Given the description of an element on the screen output the (x, y) to click on. 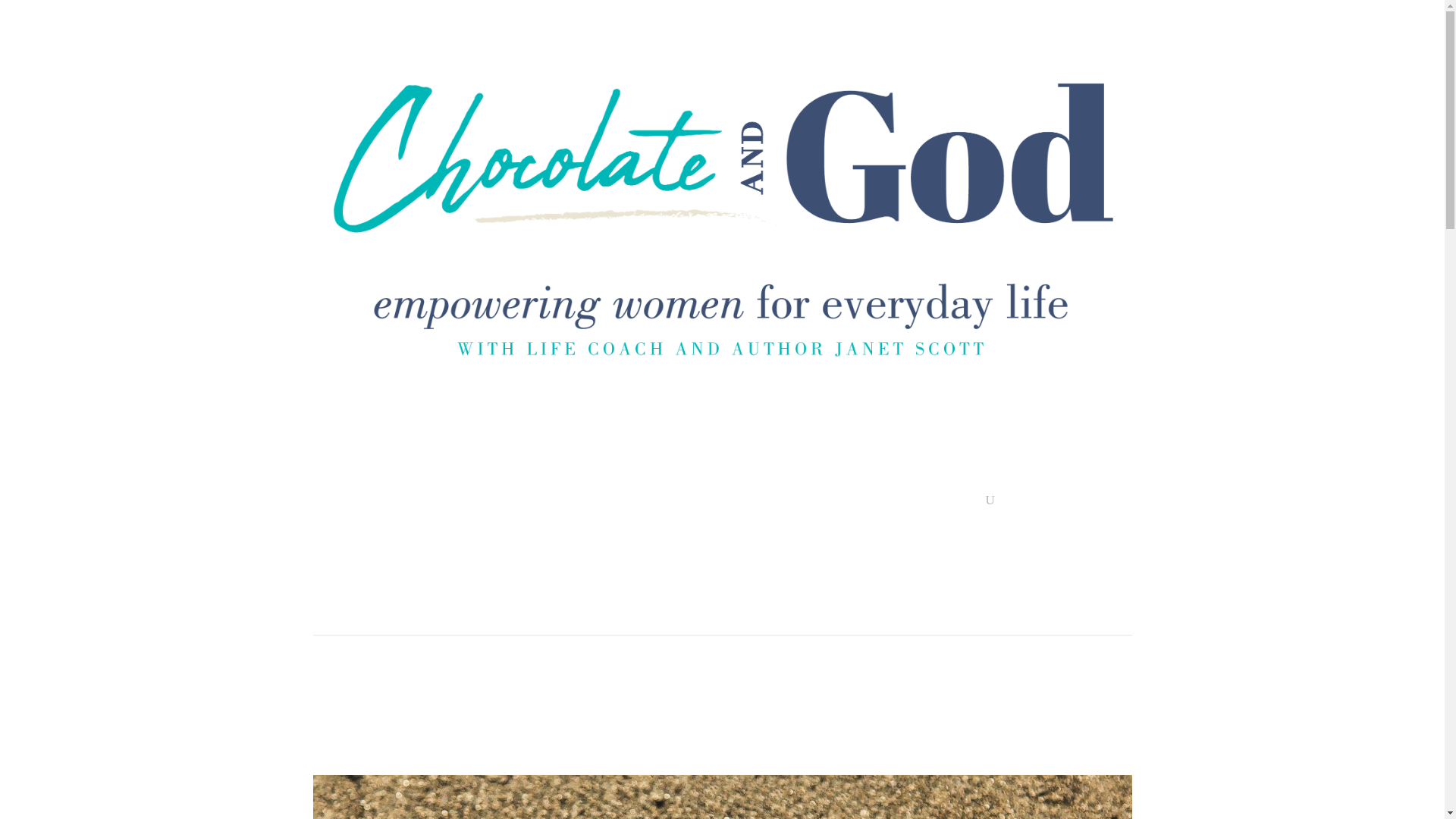
Subscribe (561, 503)
Prayer Works (633, 503)
Radio (734, 503)
Donate (503, 503)
Speaking (786, 503)
Shop (964, 503)
About Janet (853, 503)
Contact (916, 503)
tagline (722, 320)
